Given the description of an element on the screen output the (x, y) to click on. 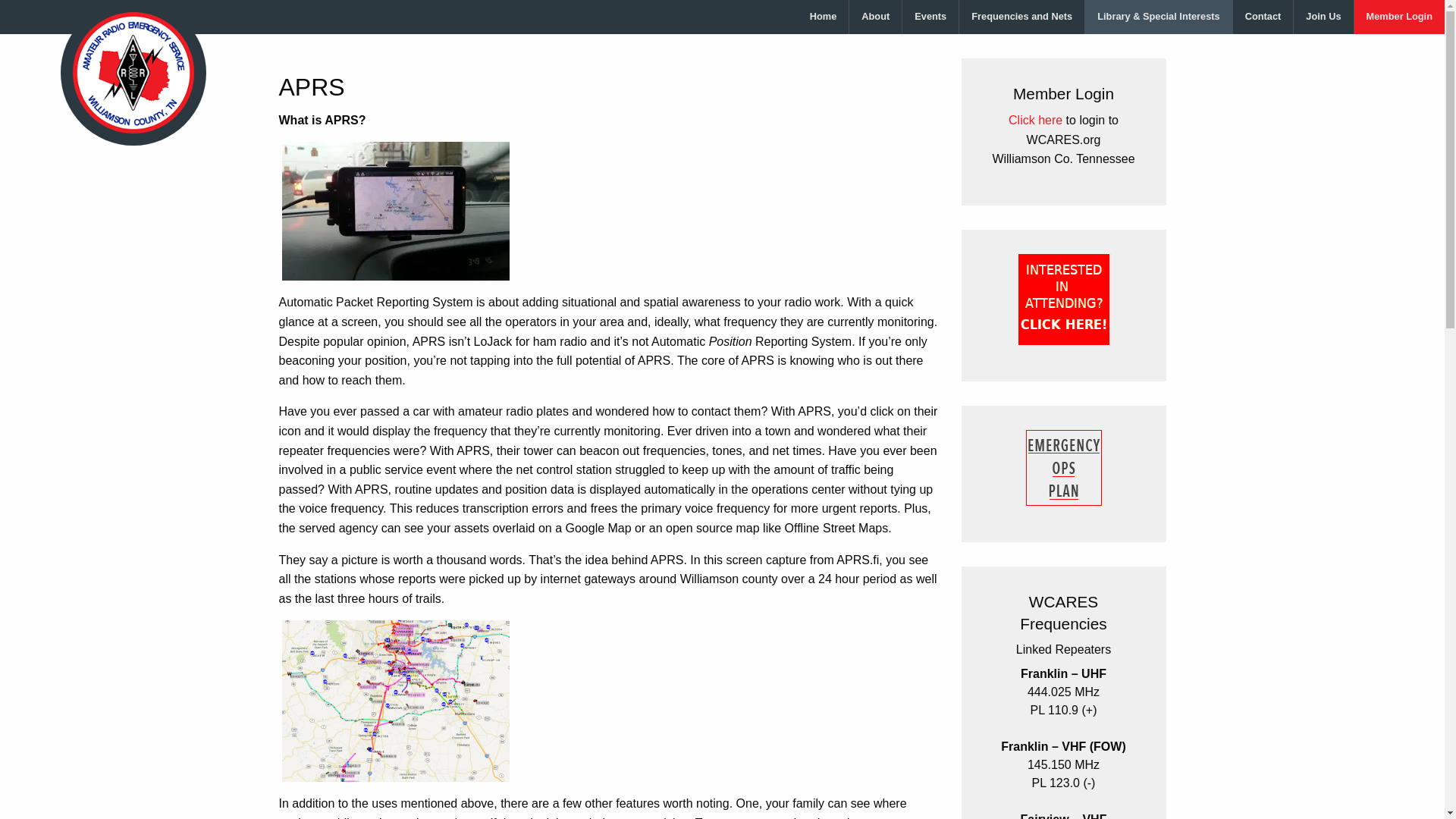
Home (822, 17)
Contact (1263, 17)
Frequencies and Nets (1021, 17)
Events (930, 17)
About (874, 17)
Join Us (1323, 17)
